Given the description of an element on the screen output the (x, y) to click on. 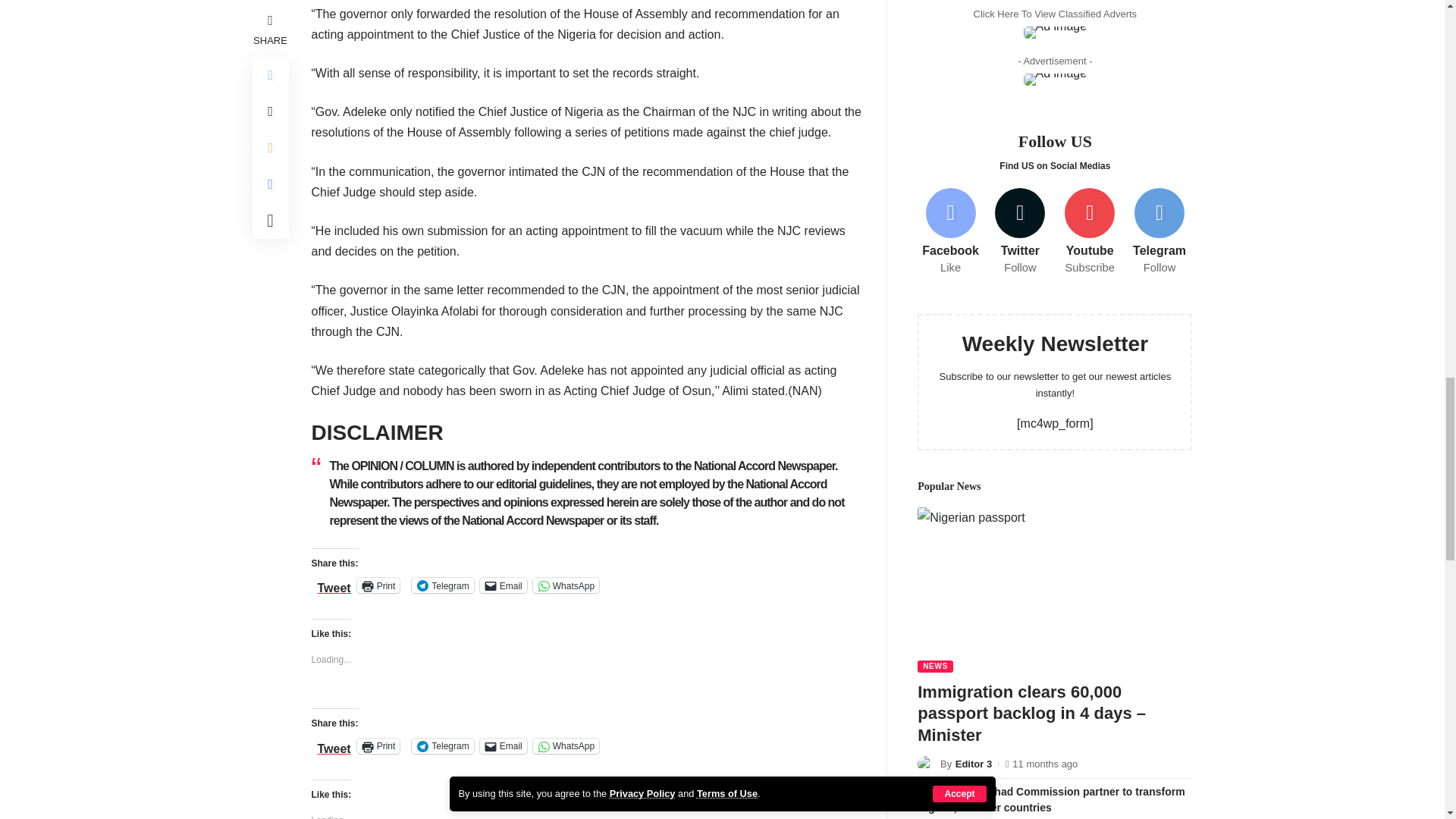
Click to email a link to a friend (503, 745)
Click to share on WhatsApp (565, 585)
Click to print (378, 585)
Click to share on Telegram (442, 585)
Click to email a link to a friend (503, 585)
Click to print (378, 745)
Click to share on WhatsApp (565, 745)
Click to share on Telegram (442, 745)
